Given the description of an element on the screen output the (x, y) to click on. 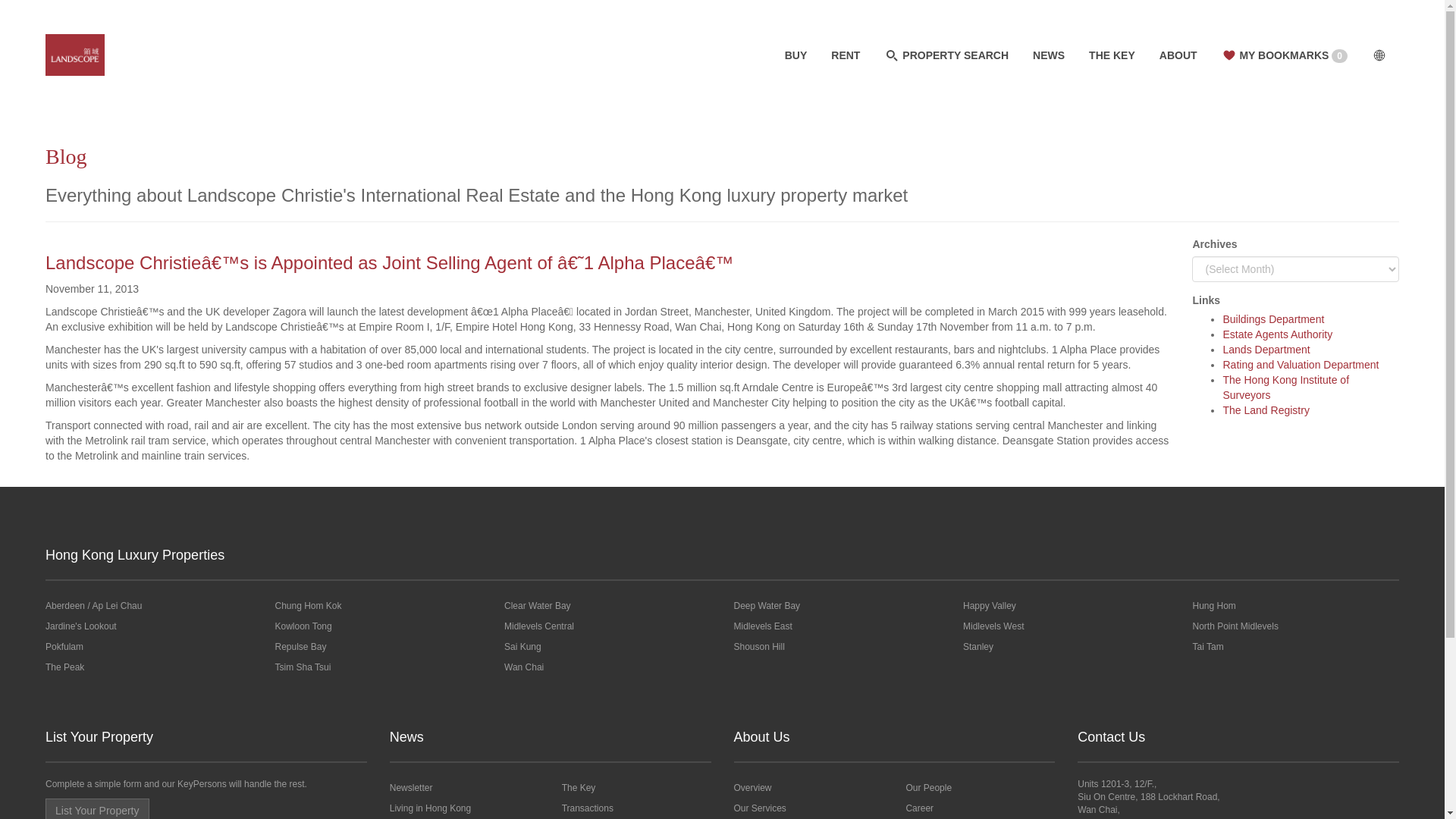
BUY (796, 55)
